Given the description of an element on the screen output the (x, y) to click on. 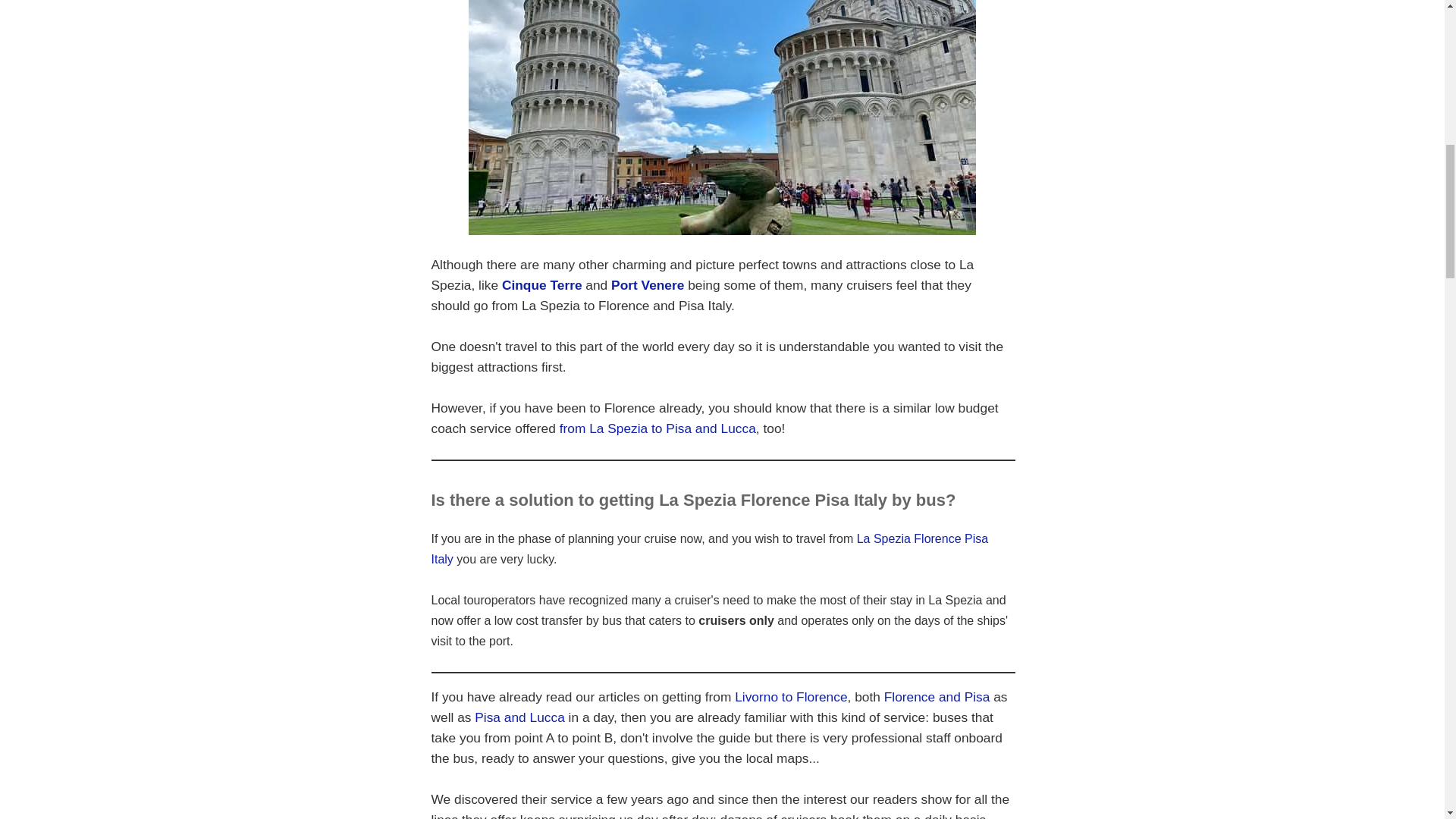
Pisa and Lucca (519, 717)
Livorno to Florence (791, 696)
Florence and Pisa (936, 696)
Port Venere (647, 284)
La Spezia Florence Pisa Italy (709, 548)
Cinque Terre (542, 284)
from La Spezia to Pisa and Lucca (657, 427)
LaSpeziaPisaFlorence (721, 117)
